Given the description of an element on the screen output the (x, y) to click on. 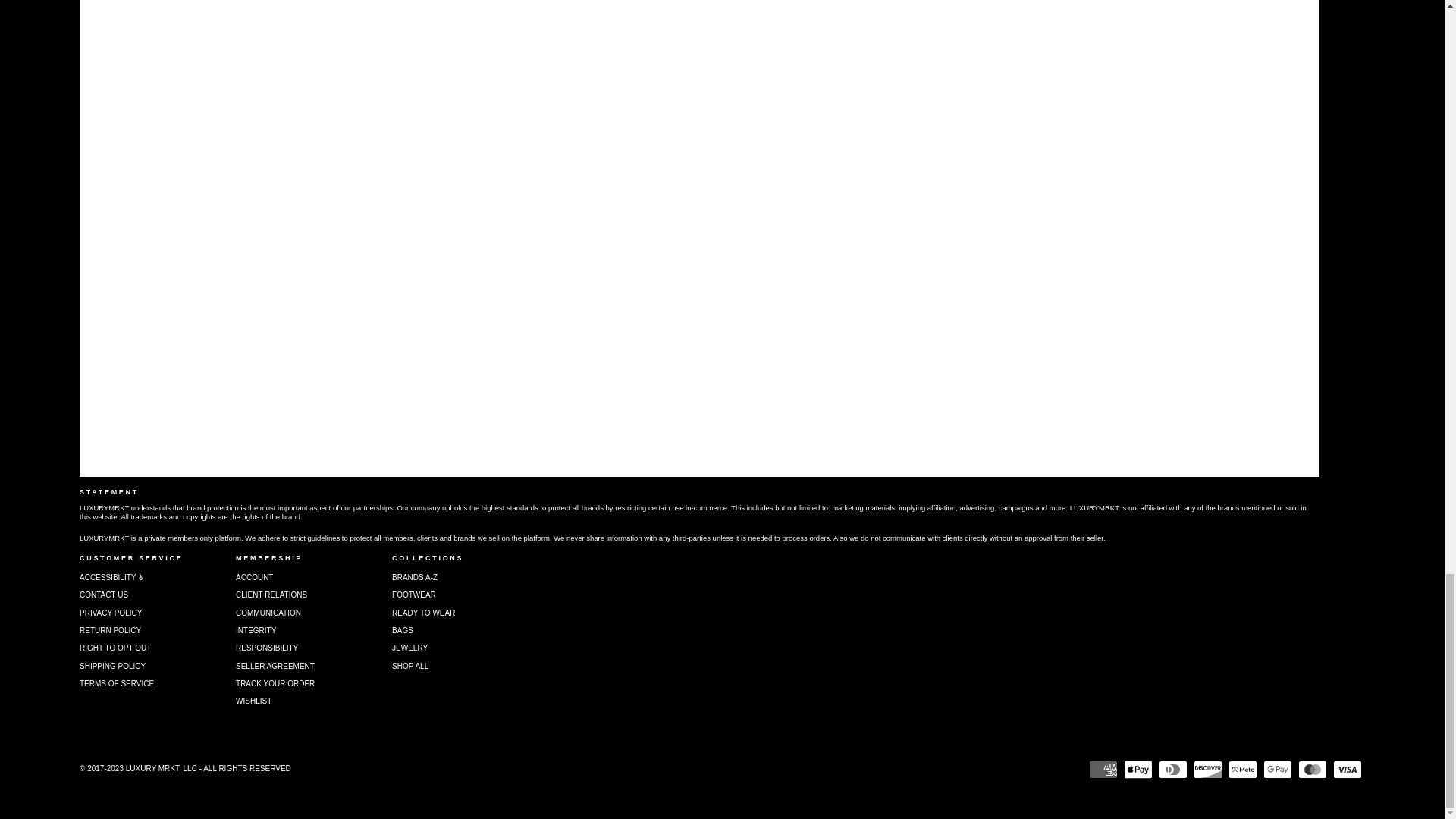
Mastercard (1312, 769)
Google Pay (1277, 769)
Apple Pay (1138, 769)
Visa (1347, 769)
American Express (1103, 769)
Discover (1208, 769)
Diners Club (1173, 769)
Meta Pay (1242, 769)
